Given the description of an element on the screen output the (x, y) to click on. 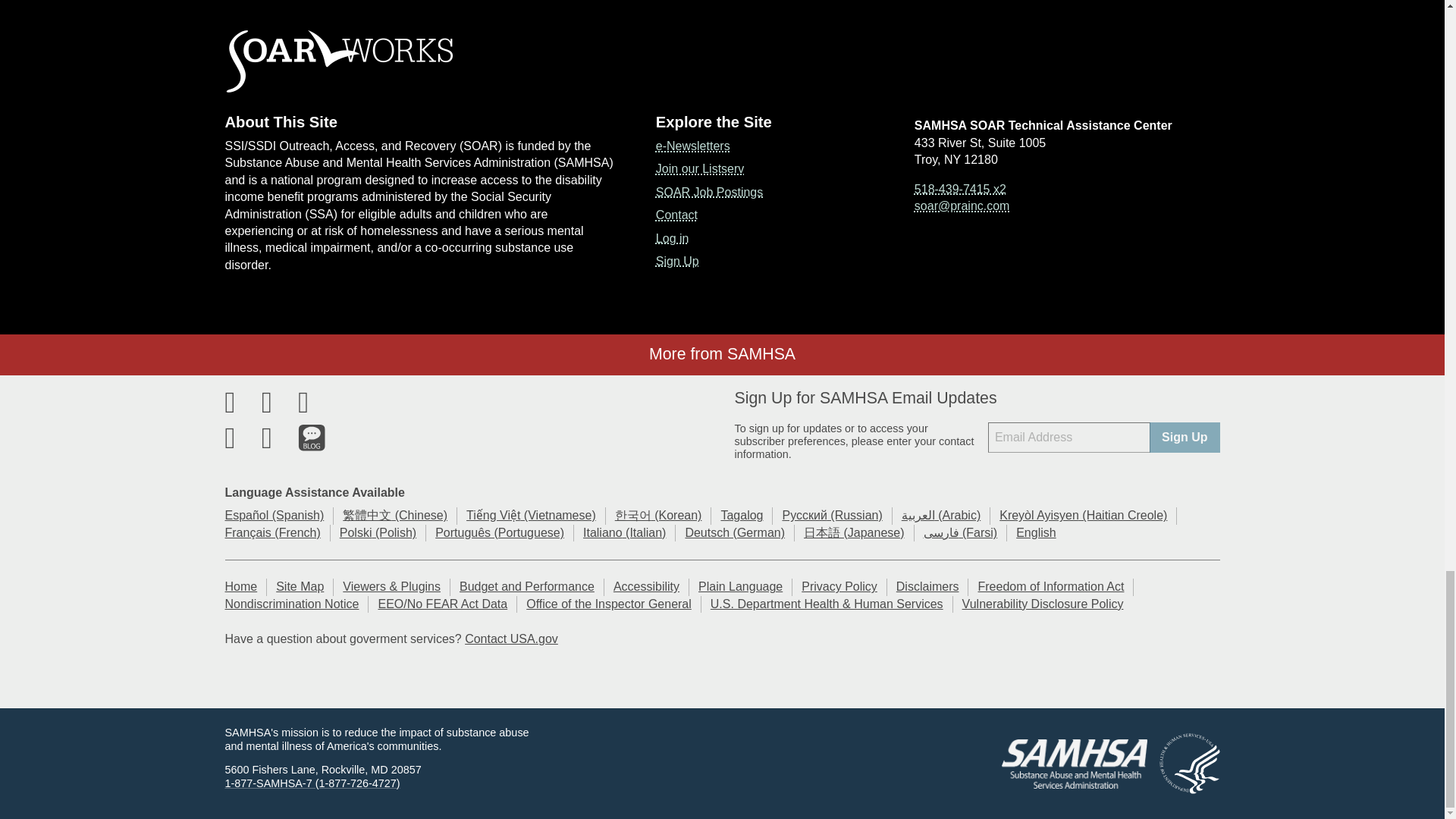
Home (722, 61)
Sign Up (1185, 437)
